Given the description of an element on the screen output the (x, y) to click on. 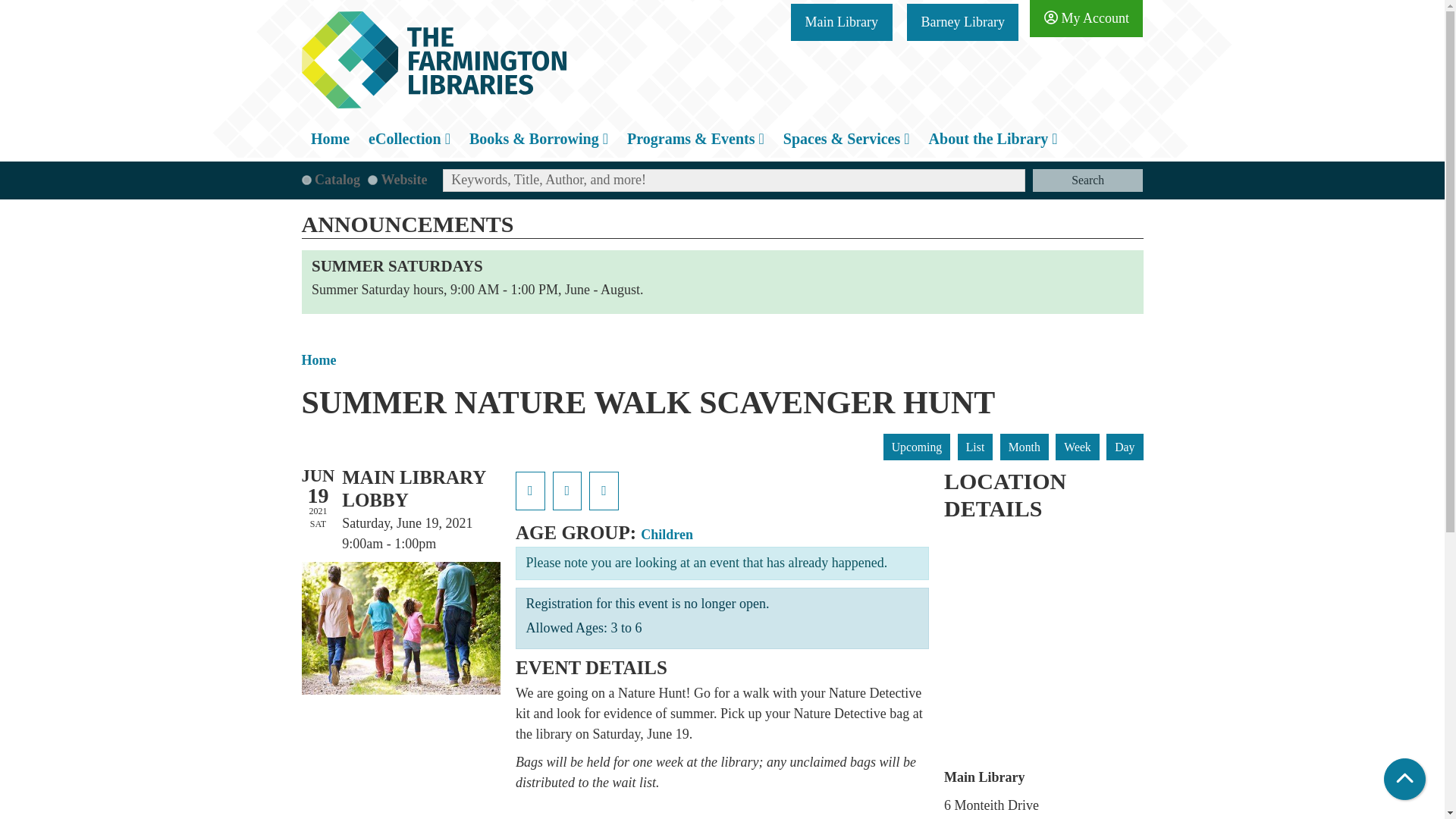
Home (330, 138)
Back To Top (1404, 779)
Barney Library (962, 22)
My Account (1085, 18)
Home (434, 59)
on (306, 180)
on (372, 180)
Main Library (840, 22)
